Given the description of an element on the screen output the (x, y) to click on. 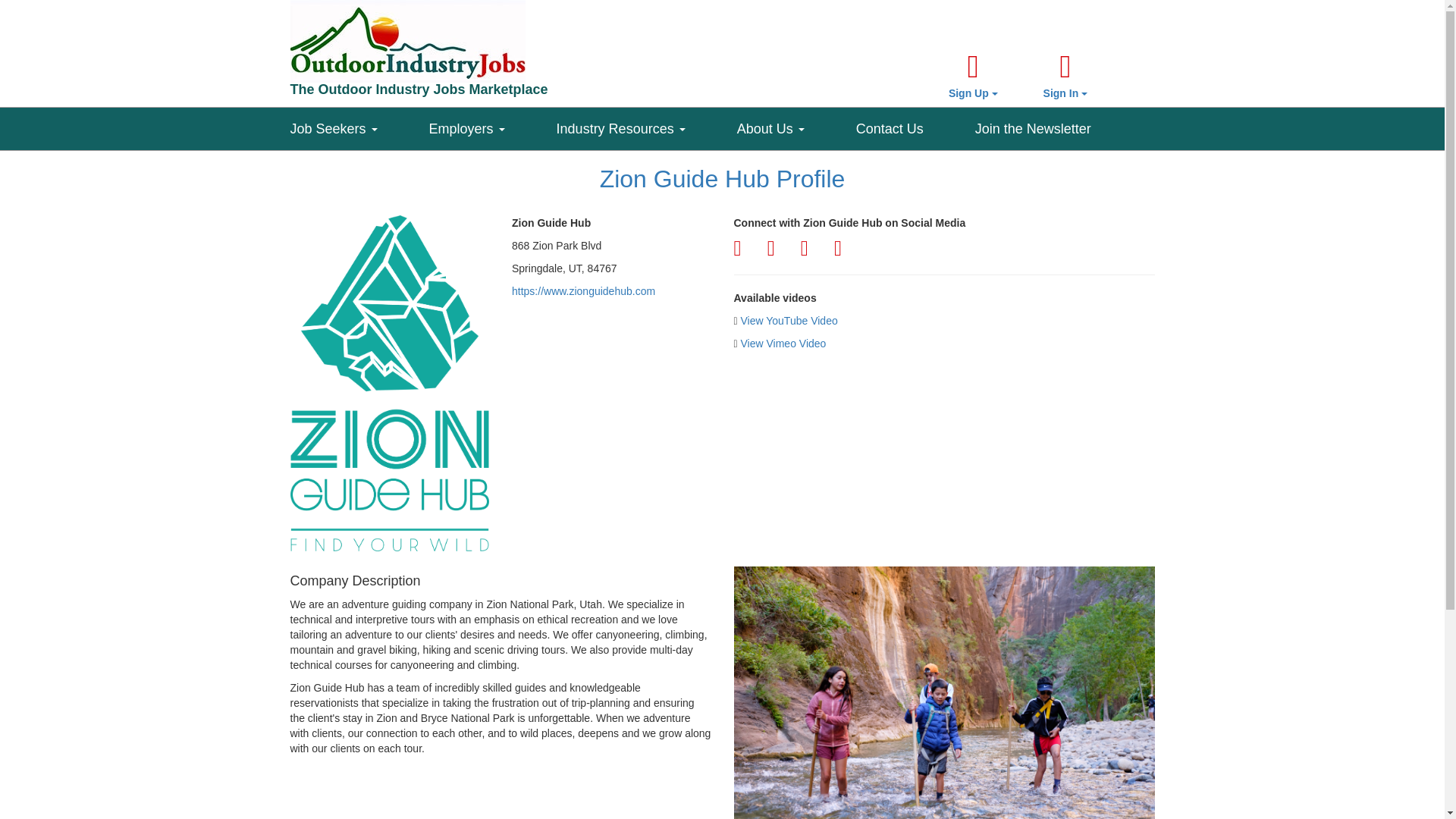
Sign In (1065, 76)
Industry Resources (646, 124)
Sign Up (973, 76)
Job Seekers (358, 124)
Employers (492, 124)
